Given the description of an element on the screen output the (x, y) to click on. 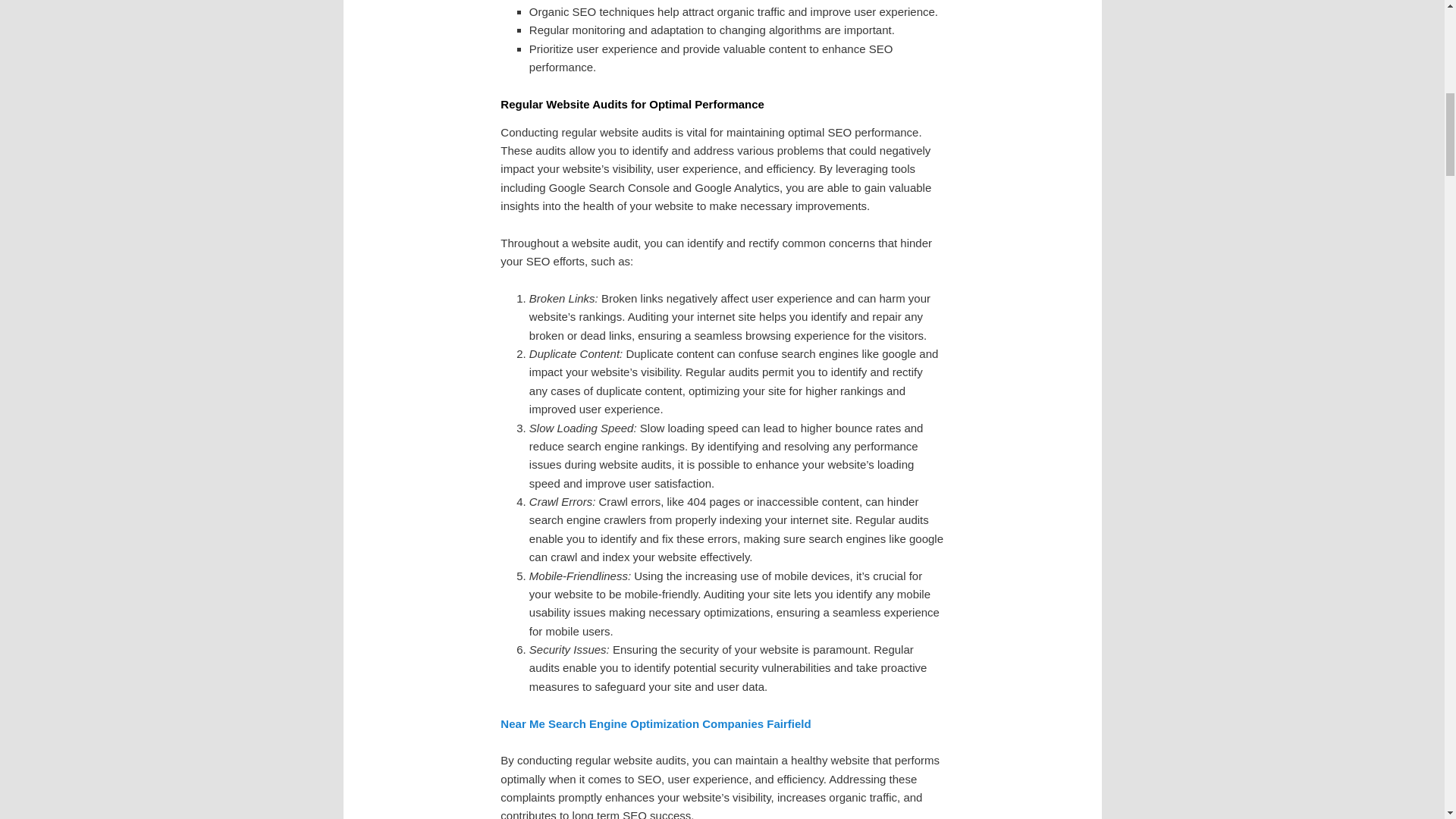
Near Me Search Engine Optimization Companies Fairfield (655, 723)
